Given the description of an element on the screen output the (x, y) to click on. 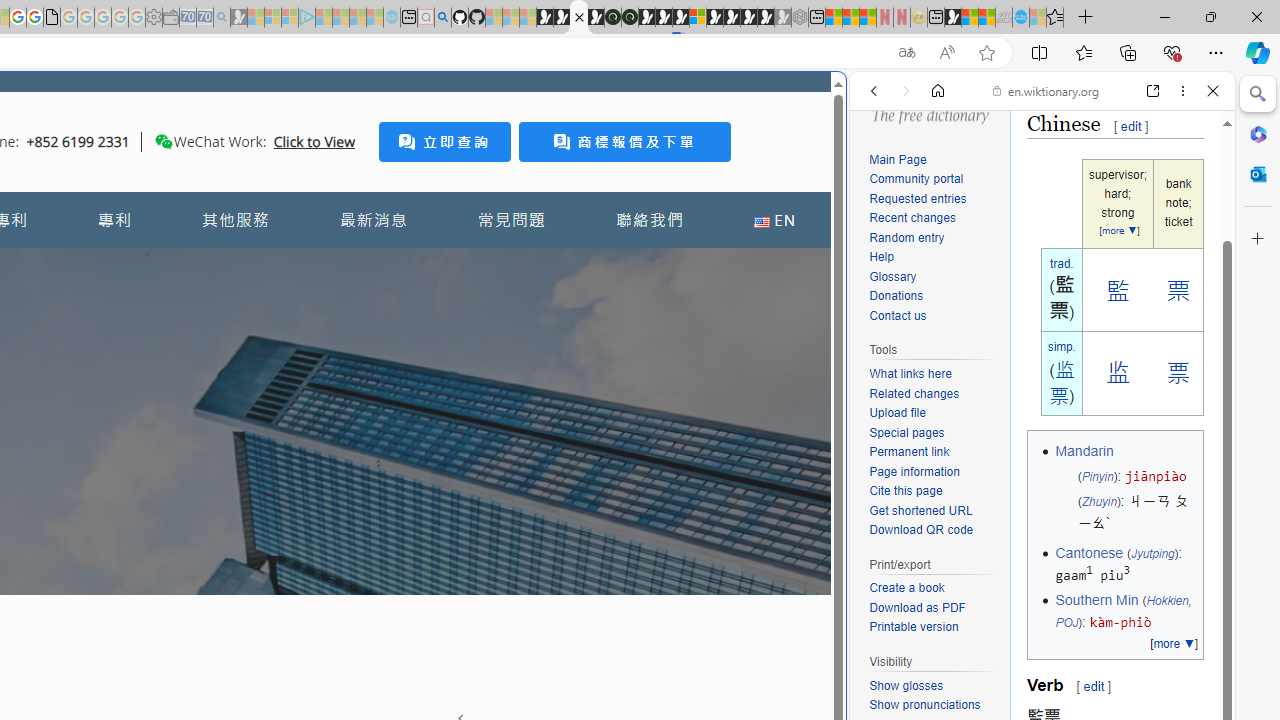
Create a book (934, 588)
Contact us (934, 316)
Upload file (934, 413)
Earth has six continents not seven, radical new study claims (986, 17)
Mandarin (1083, 451)
Show translate options (906, 53)
